Given the description of an element on the screen output the (x, y) to click on. 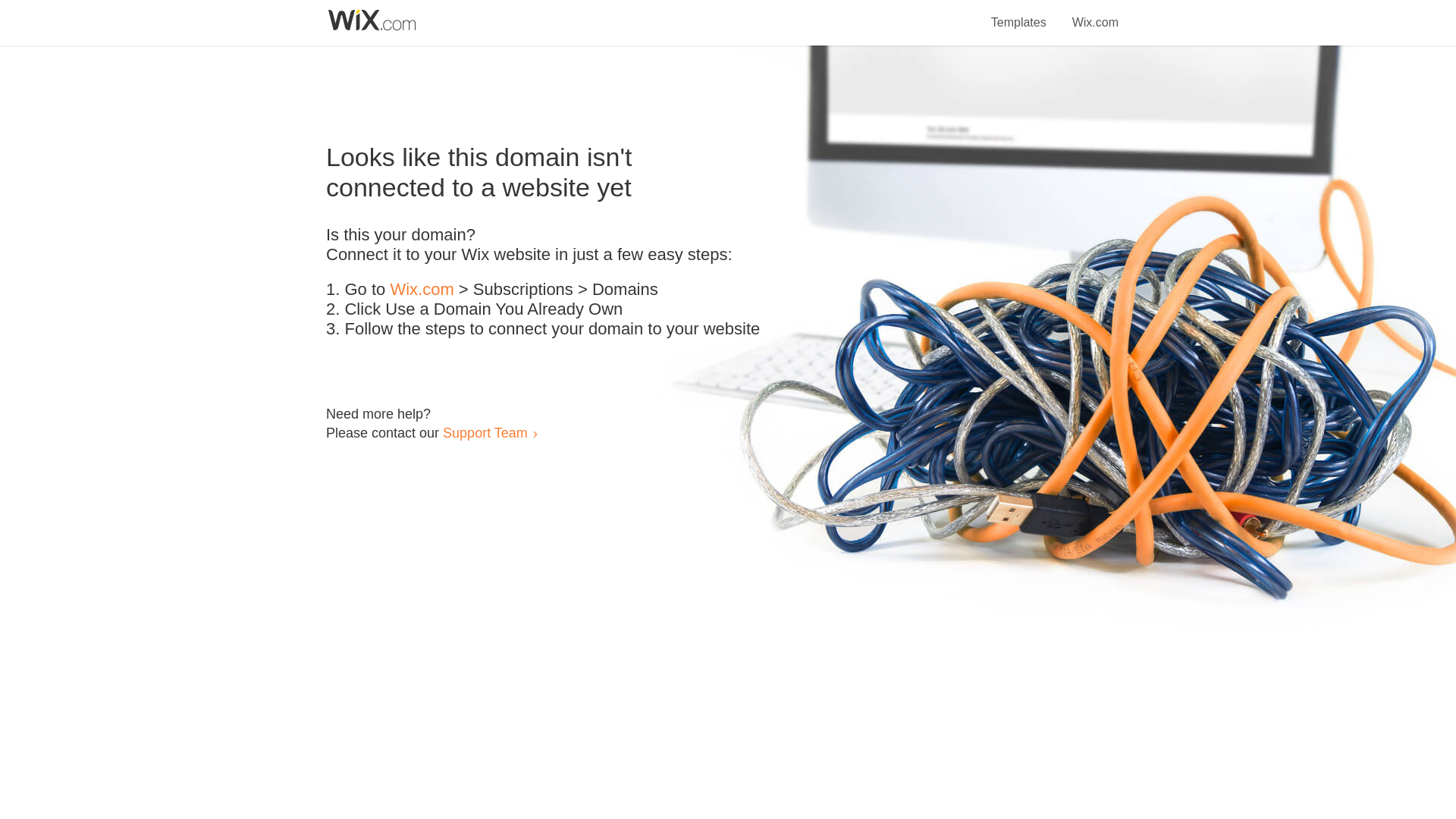
Wix.com (421, 289)
Support Team (484, 432)
Templates (1018, 14)
Wix.com (1095, 14)
